Given the description of an element on the screen output the (x, y) to click on. 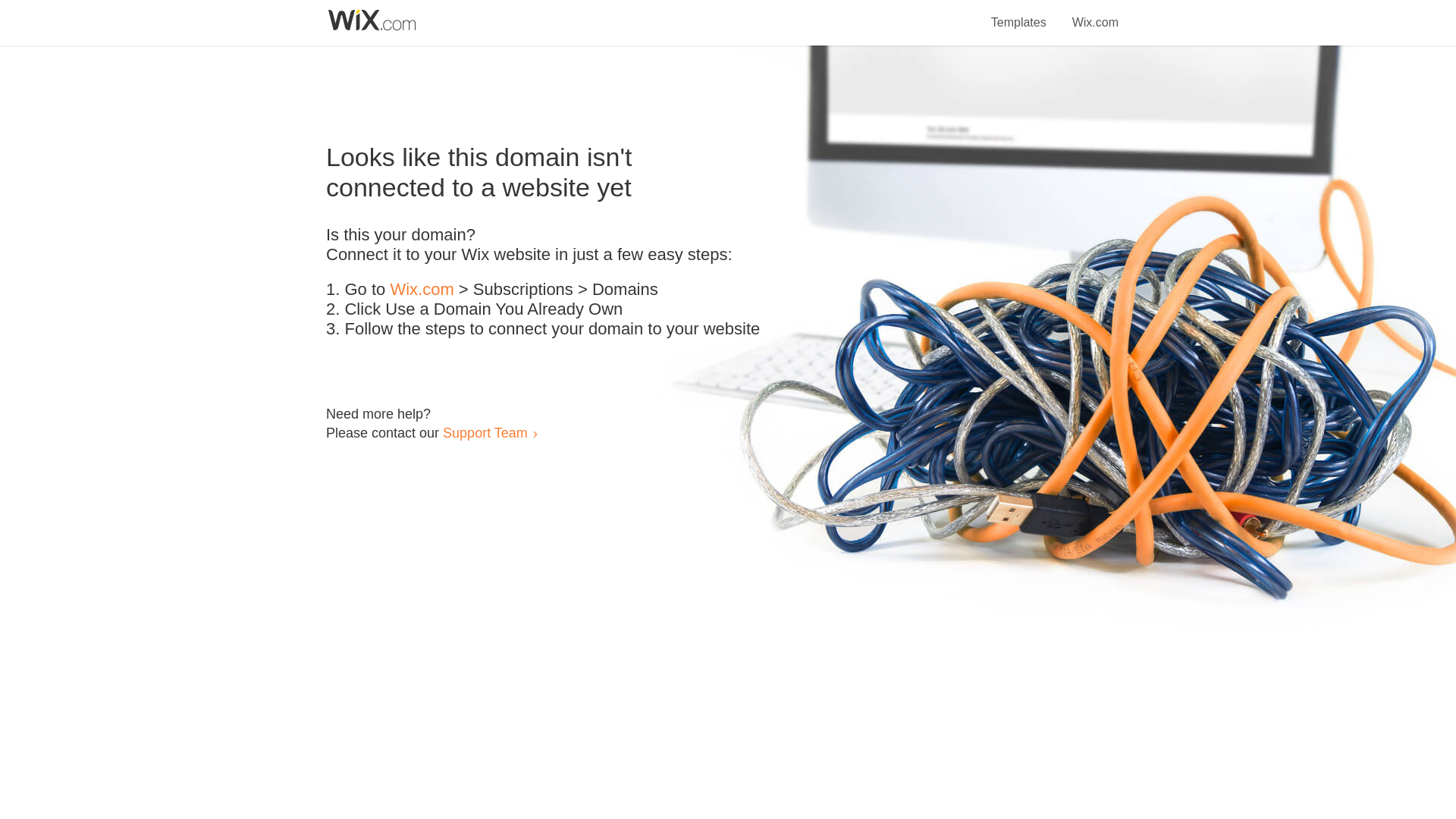
Wix.com (421, 289)
Support Team (484, 432)
Templates (1018, 14)
Wix.com (1095, 14)
